Given the description of an element on the screen output the (x, y) to click on. 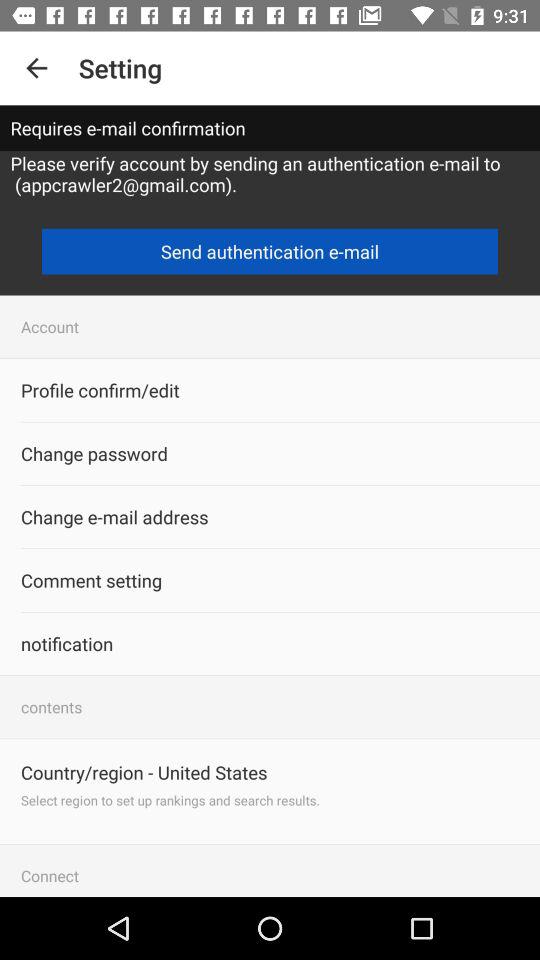
click icon next to setting icon (36, 68)
